Given the description of an element on the screen output the (x, y) to click on. 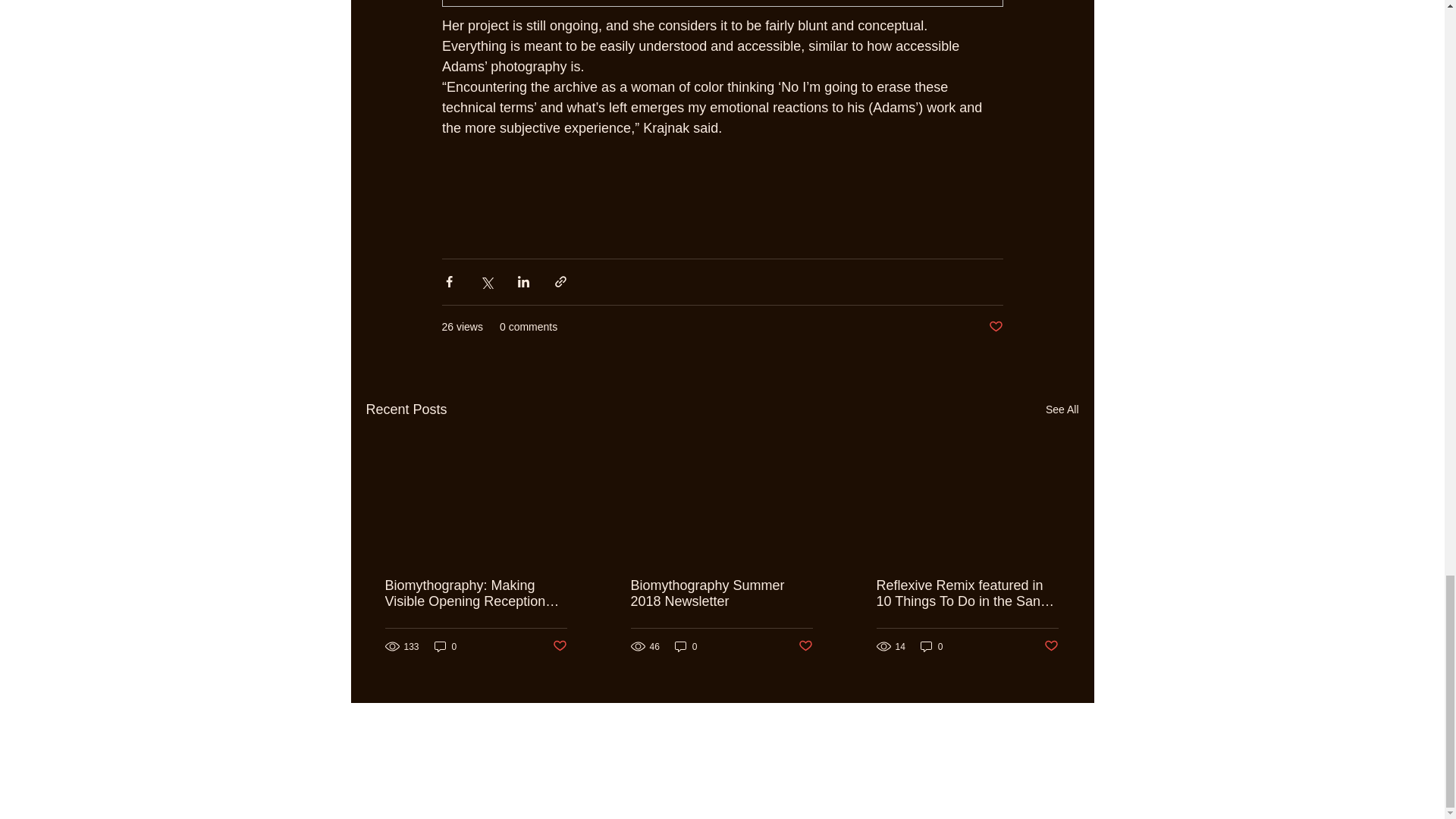
Post not marked as liked (995, 326)
Post not marked as liked (804, 646)
Biomythography Summer 2018 Newsletter (721, 593)
0 (685, 646)
Post not marked as liked (558, 646)
0 (931, 646)
See All (1061, 409)
0 (445, 646)
